Given the description of an element on the screen output the (x, y) to click on. 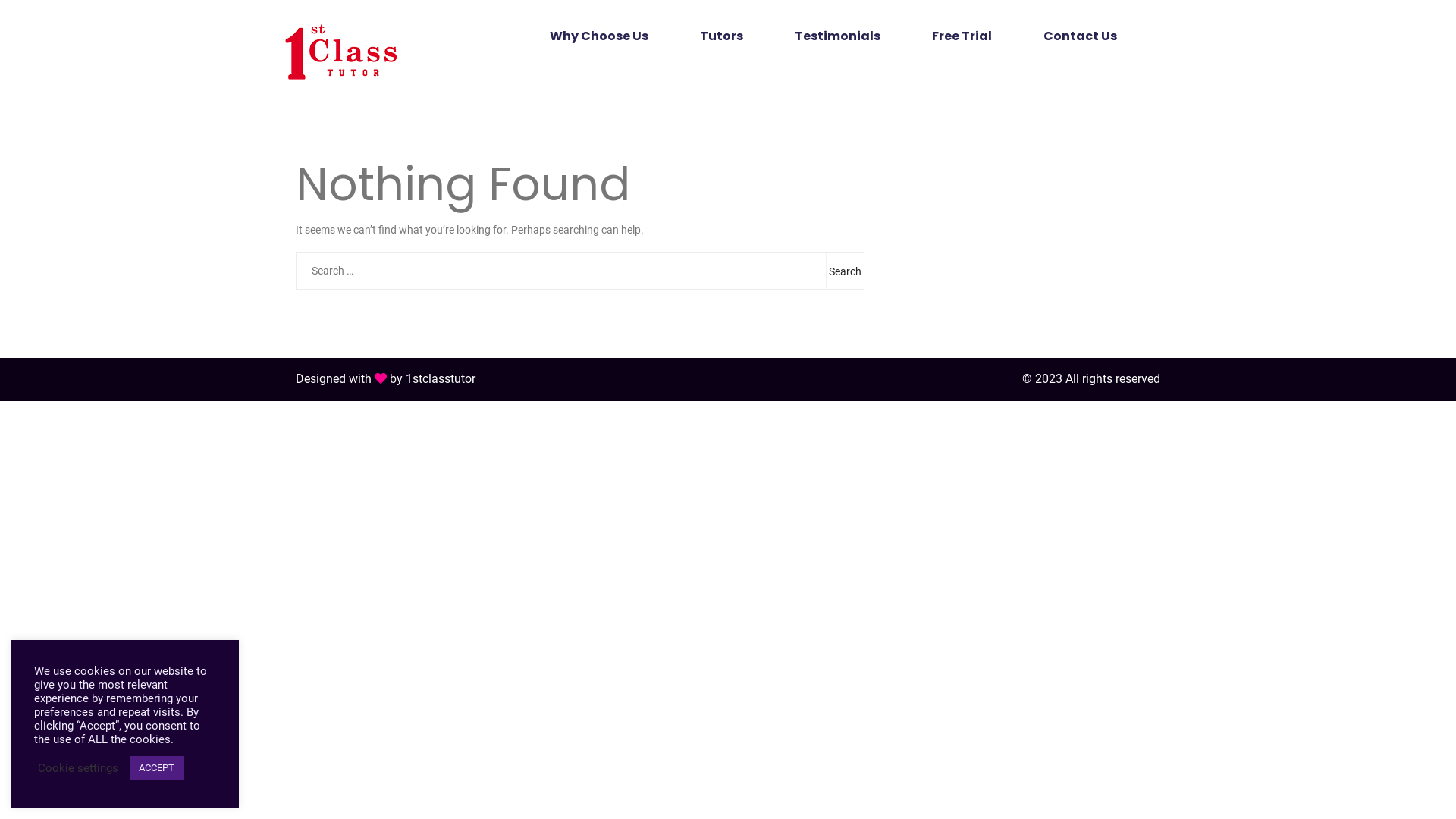
1stclasstutor Element type: text (440, 378)
Free Trial Element type: text (961, 43)
Testimonials Element type: text (837, 43)
Why Choose Us Element type: text (598, 43)
ACCEPT Element type: text (156, 767)
Cookie settings Element type: text (77, 768)
Search Element type: text (844, 271)
Tutors Element type: text (721, 43)
Contact Us Element type: text (1080, 43)
